Given the description of an element on the screen output the (x, y) to click on. 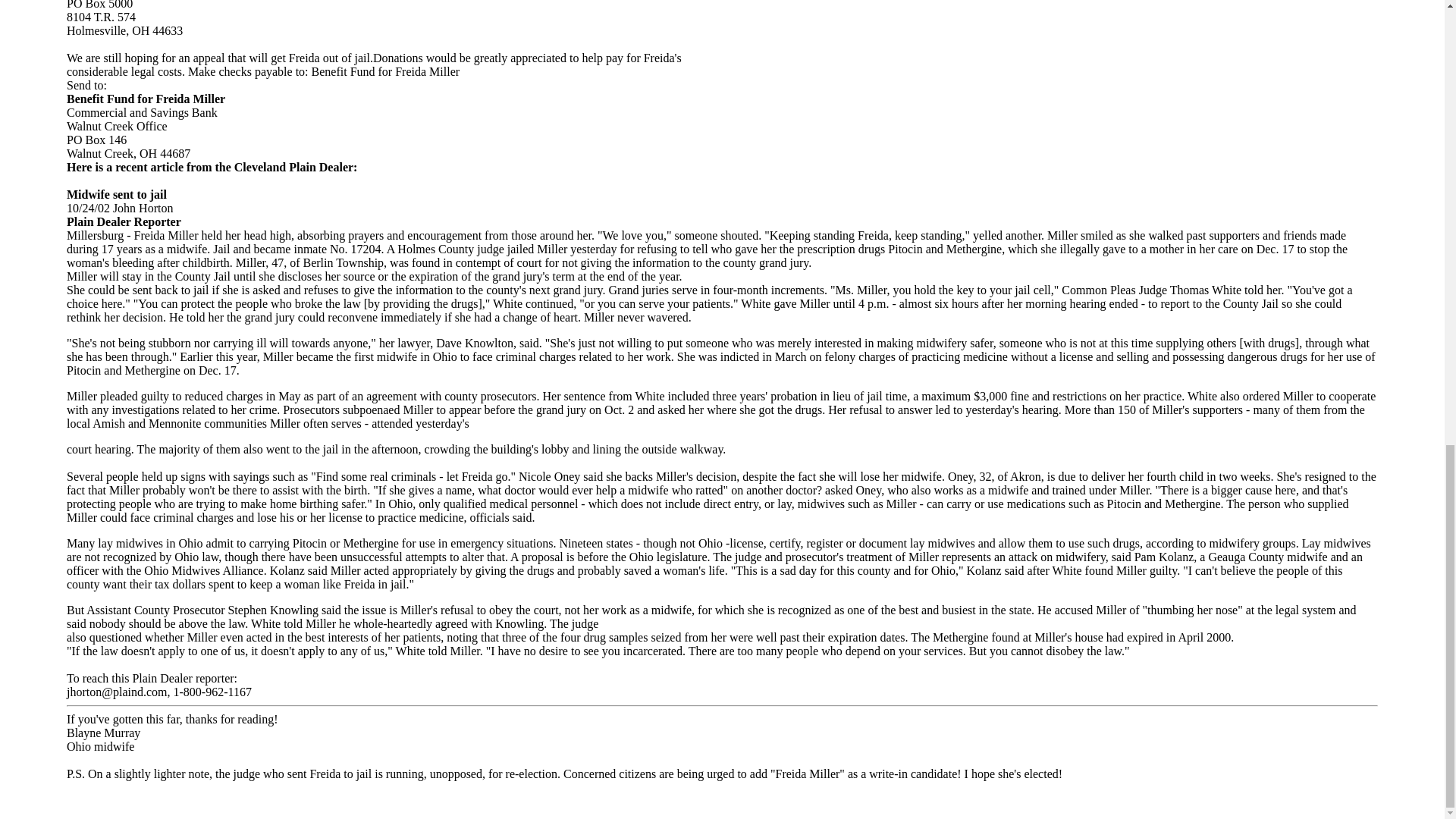
Cleveland Plain Dealer: (296, 166)
